Given the description of an element on the screen output the (x, y) to click on. 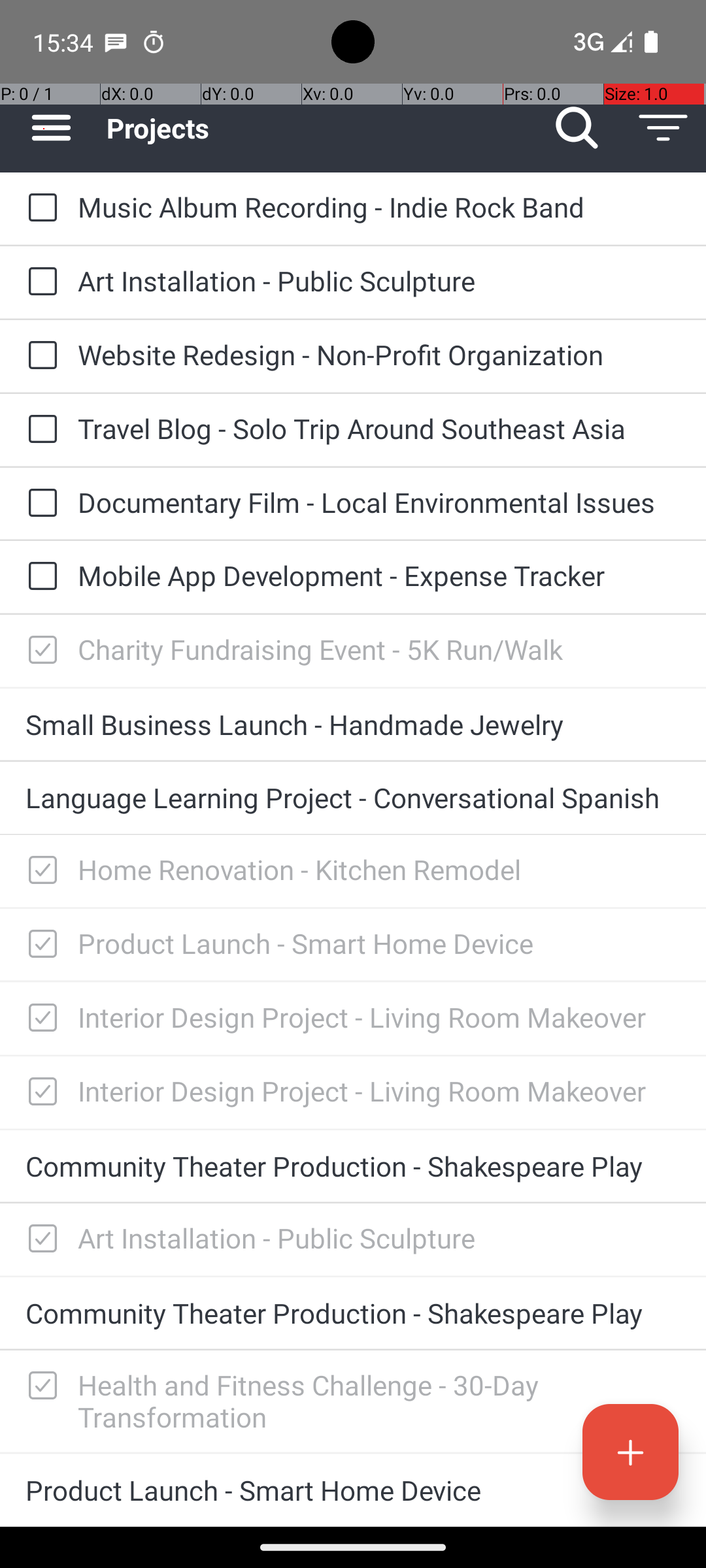
to-do: Art Installation - Public Sculpture Element type: android.widget.CheckBox (38, 282)
Art Installation - Public Sculpture Element type: android.widget.TextView (378, 280)
to-do: Website Redesign - Non-Profit Organization Element type: android.widget.CheckBox (38, 356)
Website Redesign - Non-Profit Organization Element type: android.widget.TextView (378, 354)
to-do: Travel Blog - Solo Trip Around Southeast Asia Element type: android.widget.CheckBox (38, 429)
Travel Blog - Solo Trip Around Southeast Asia Element type: android.widget.TextView (378, 427)
to-do: Documentary Film - Local Environmental Issues Element type: android.widget.CheckBox (38, 503)
Documentary Film - Local Environmental Issues Element type: android.widget.TextView (378, 501)
to-do: Mobile App Development - Expense Tracker Element type: android.widget.CheckBox (38, 576)
Mobile App Development - Expense Tracker Element type: android.widget.TextView (378, 574)
to-do: Charity Fundraising Event - 5K Run/Walk Element type: android.widget.CheckBox (38, 650)
Charity Fundraising Event - 5K Run/Walk Element type: android.widget.TextView (378, 648)
Small Business Launch - Handmade Jewelry Element type: android.widget.TextView (352, 723)
Language Learning Project - Conversational Spanish Element type: android.widget.TextView (352, 797)
to-do: Home Renovation - Kitchen Remodel Element type: android.widget.CheckBox (38, 870)
Home Renovation - Kitchen Remodel Element type: android.widget.TextView (378, 868)
to-do: Product Launch - Smart Home Device Element type: android.widget.CheckBox (38, 944)
Product Launch - Smart Home Device Element type: android.widget.TextView (378, 942)
to-do: Interior Design Project - Living Room Makeover Element type: android.widget.CheckBox (38, 1018)
Interior Design Project - Living Room Makeover Element type: android.widget.TextView (378, 1016)
Community Theater Production - Shakespeare Play Element type: android.widget.TextView (352, 1165)
to-do: Health and Fitness Challenge - 30-Day Transformation Element type: android.widget.CheckBox (38, 1386)
Health and Fitness Challenge - 30-Day Transformation Element type: android.widget.TextView (378, 1400)
